Given the description of an element on the screen output the (x, y) to click on. 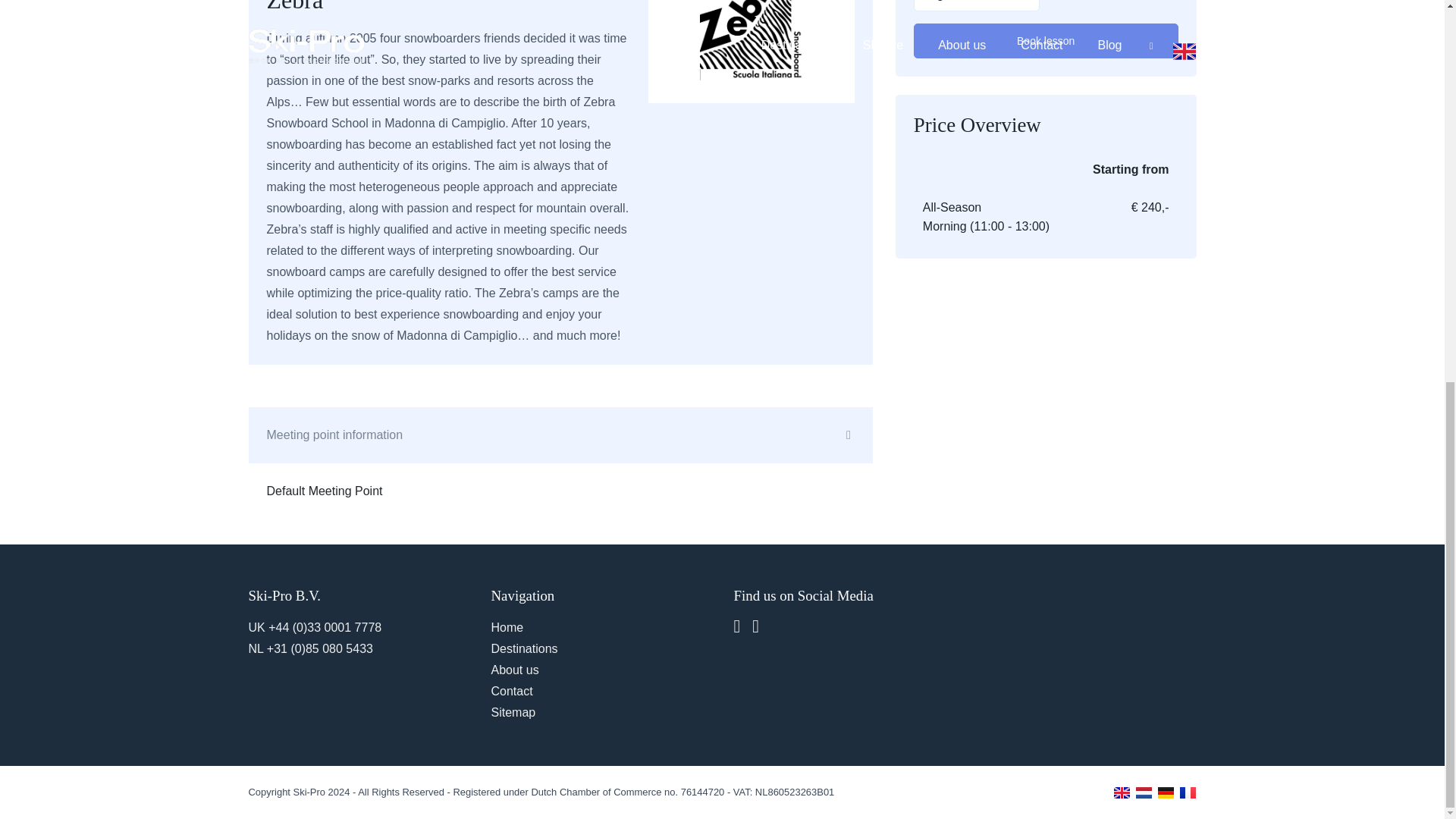
English (976, 6)
Contact (512, 690)
Home (508, 626)
Sitemap (513, 712)
About us (515, 669)
Meeting point information (560, 435)
Book lesson (1045, 40)
Destinations (524, 648)
